Given the description of an element on the screen output the (x, y) to click on. 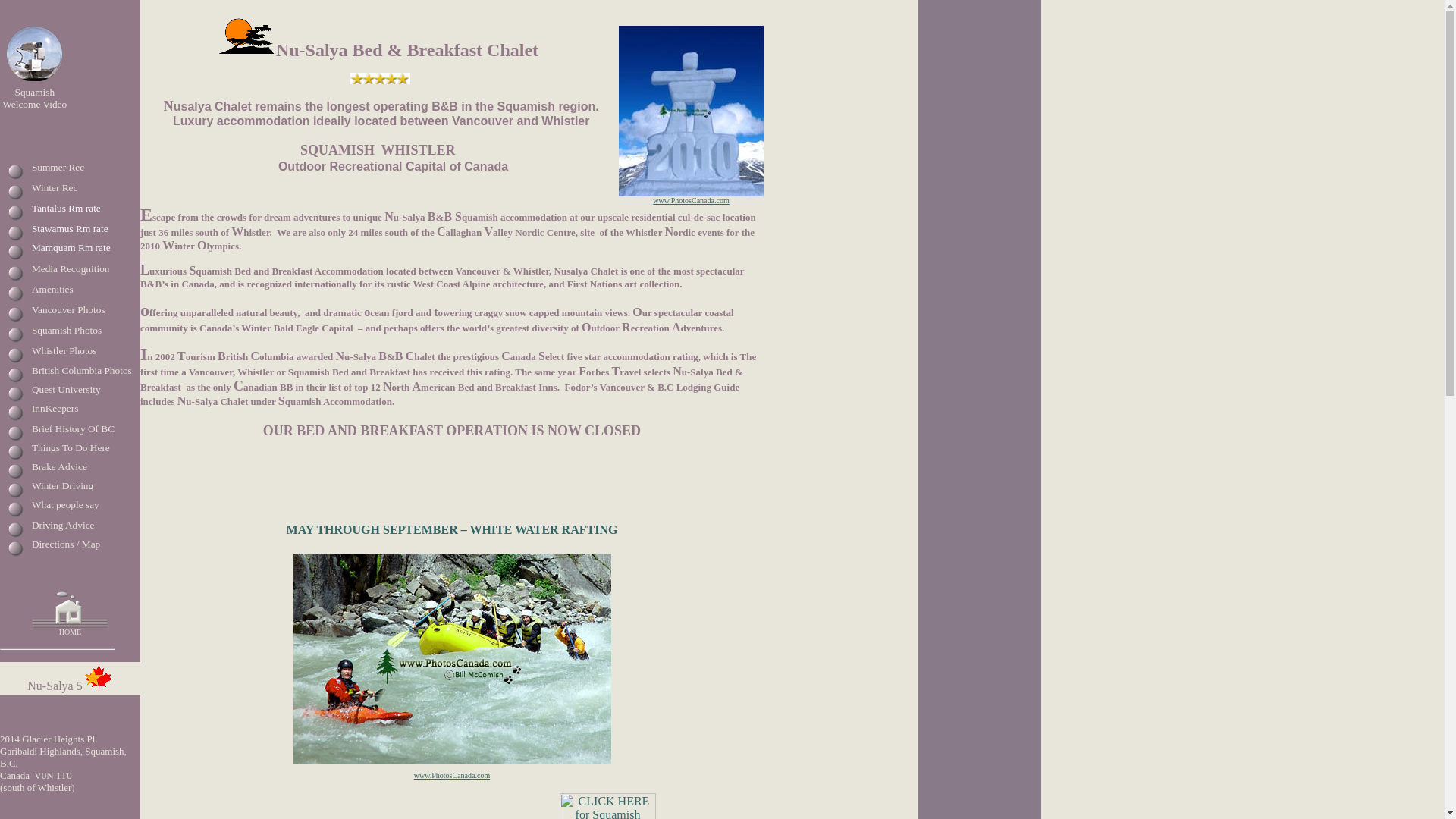
Summer Rec (58, 166)
Squamish Welcome (28, 97)
Stawamus Rm rate (69, 227)
Winter Rec (55, 187)
Whistler Photos (64, 349)
Squamish Photos (66, 328)
Brake Advice (59, 466)
Things To Do Here (71, 447)
Driving Advice (63, 524)
Winter Driving (62, 485)
